Given the description of an element on the screen output the (x, y) to click on. 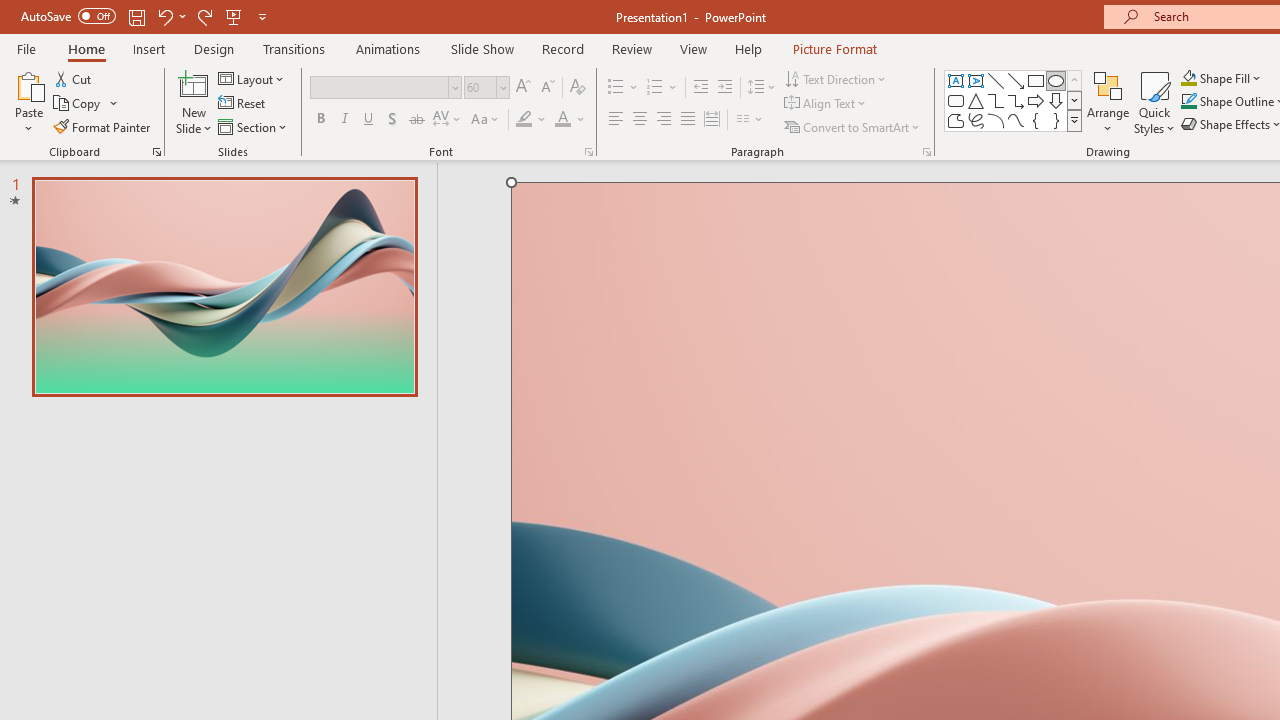
Picture Format (834, 48)
